Given the description of an element on the screen output the (x, y) to click on. 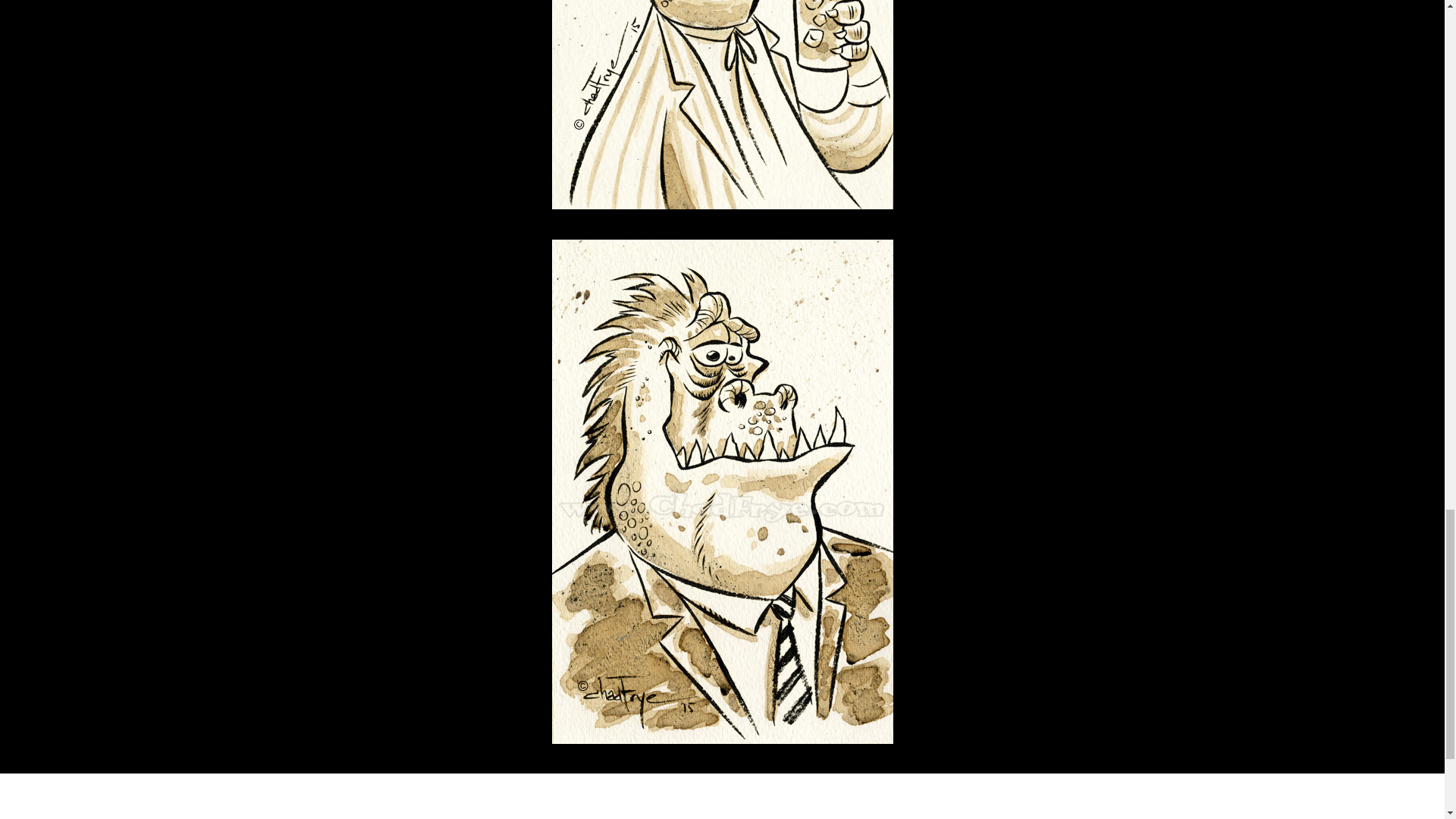
ART: PAINTING (456, 810)
MONSTERS (766, 810)
CHARACTER DESIGNS (670, 810)
ART: INKING (373, 810)
ART: WATERCOLOR (555, 810)
